Given the description of an element on the screen output the (x, y) to click on. 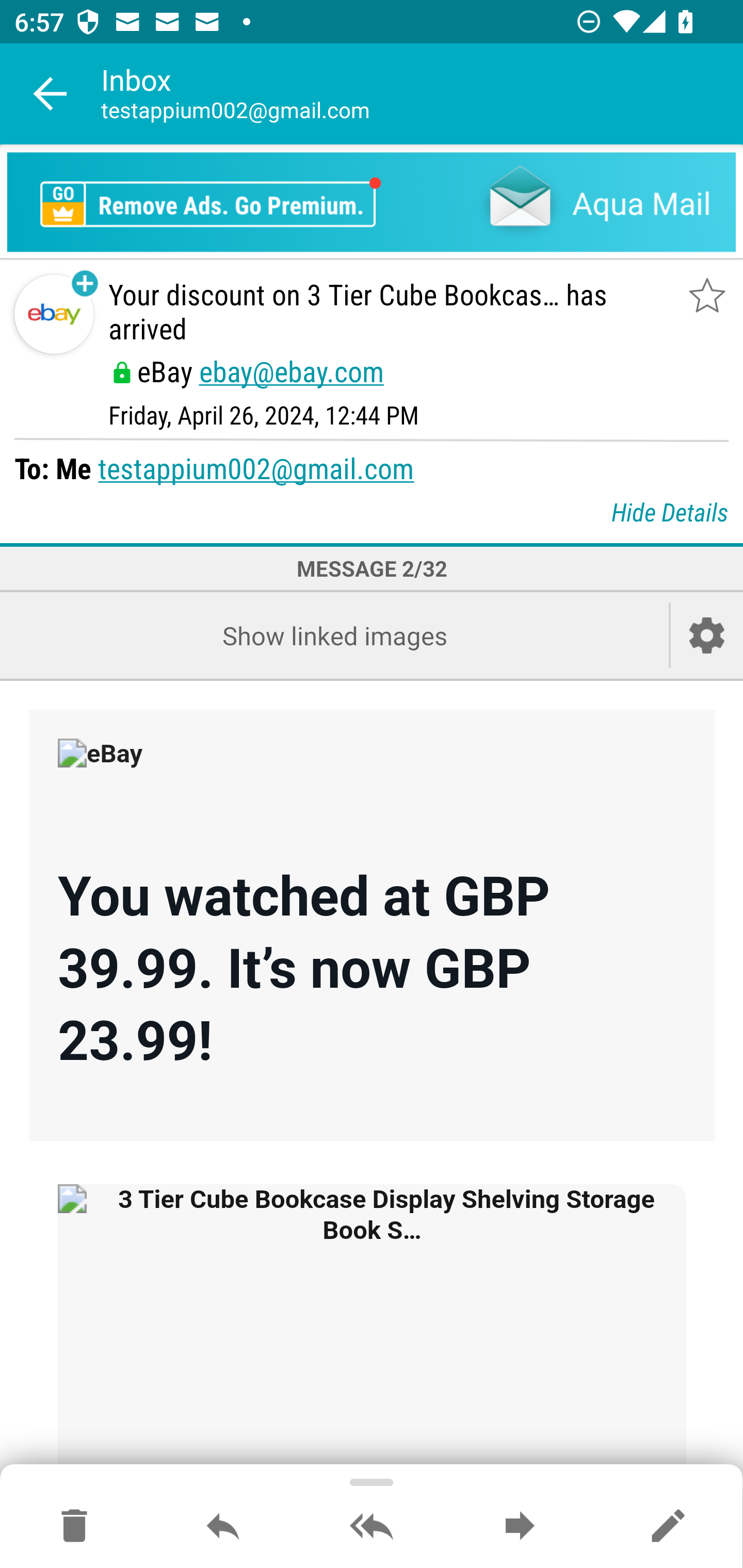
Navigate up (50, 93)
Inbox testappium002@gmail.com (422, 93)
Sender contact button (53, 314)
Show linked images (334, 635)
Account setup (706, 635)
eBay (129, 767)
Move to Deleted (74, 1527)
Reply (222, 1527)
Reply all (371, 1527)
Forward (519, 1527)
Reply as new (667, 1527)
